Given the description of an element on the screen output the (x, y) to click on. 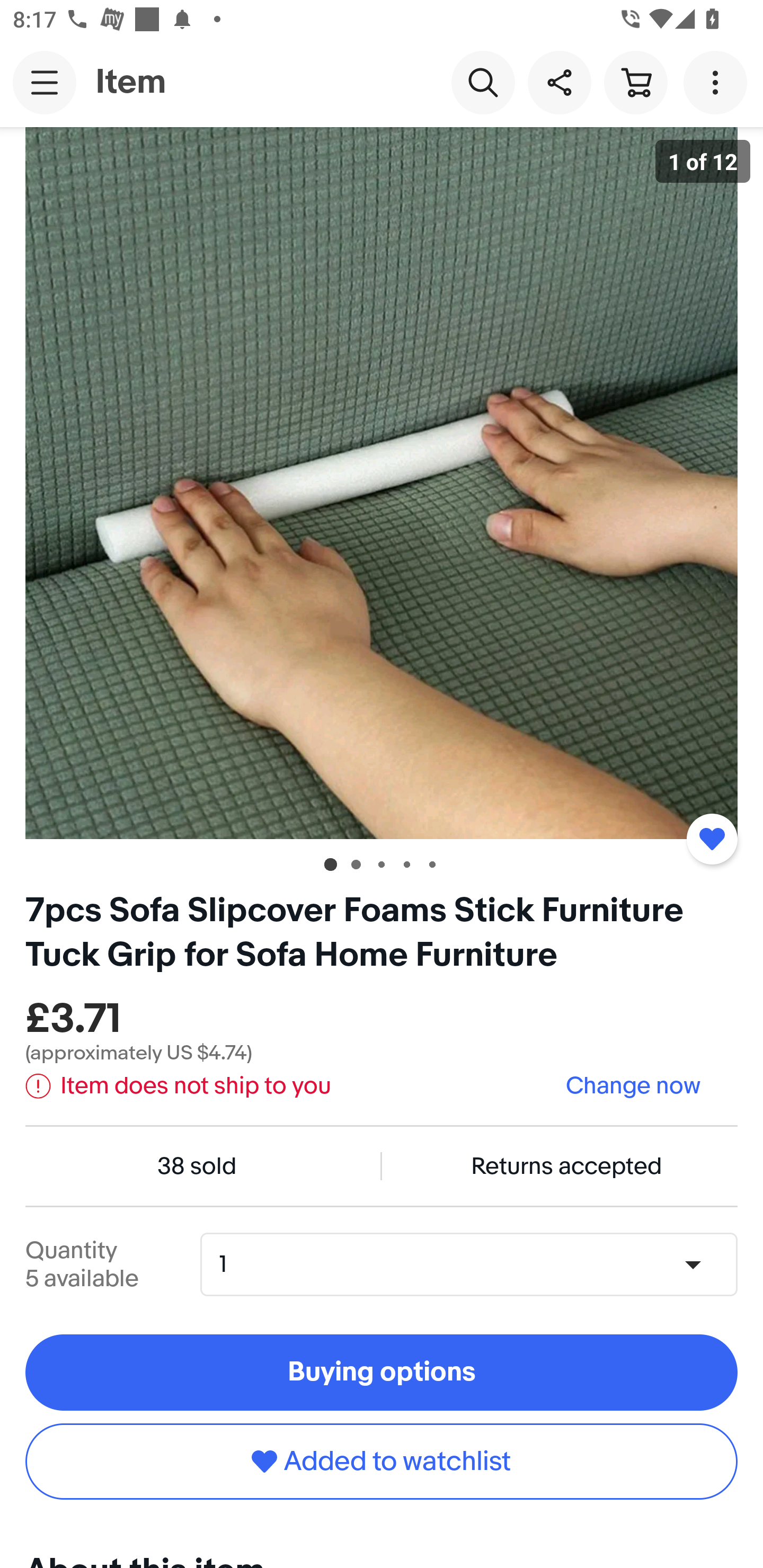
Main navigation, open (44, 82)
Search (482, 81)
Share this item (559, 81)
Cart button shopping cart (635, 81)
More options (718, 81)
Item image 1 of 12 (381, 482)
Added to watchlist (711, 838)
Quantity,1,5 available 1 (474, 1264)
Buying options (381, 1372)
Added to watchlist (381, 1461)
